Given the description of an element on the screen output the (x, y) to click on. 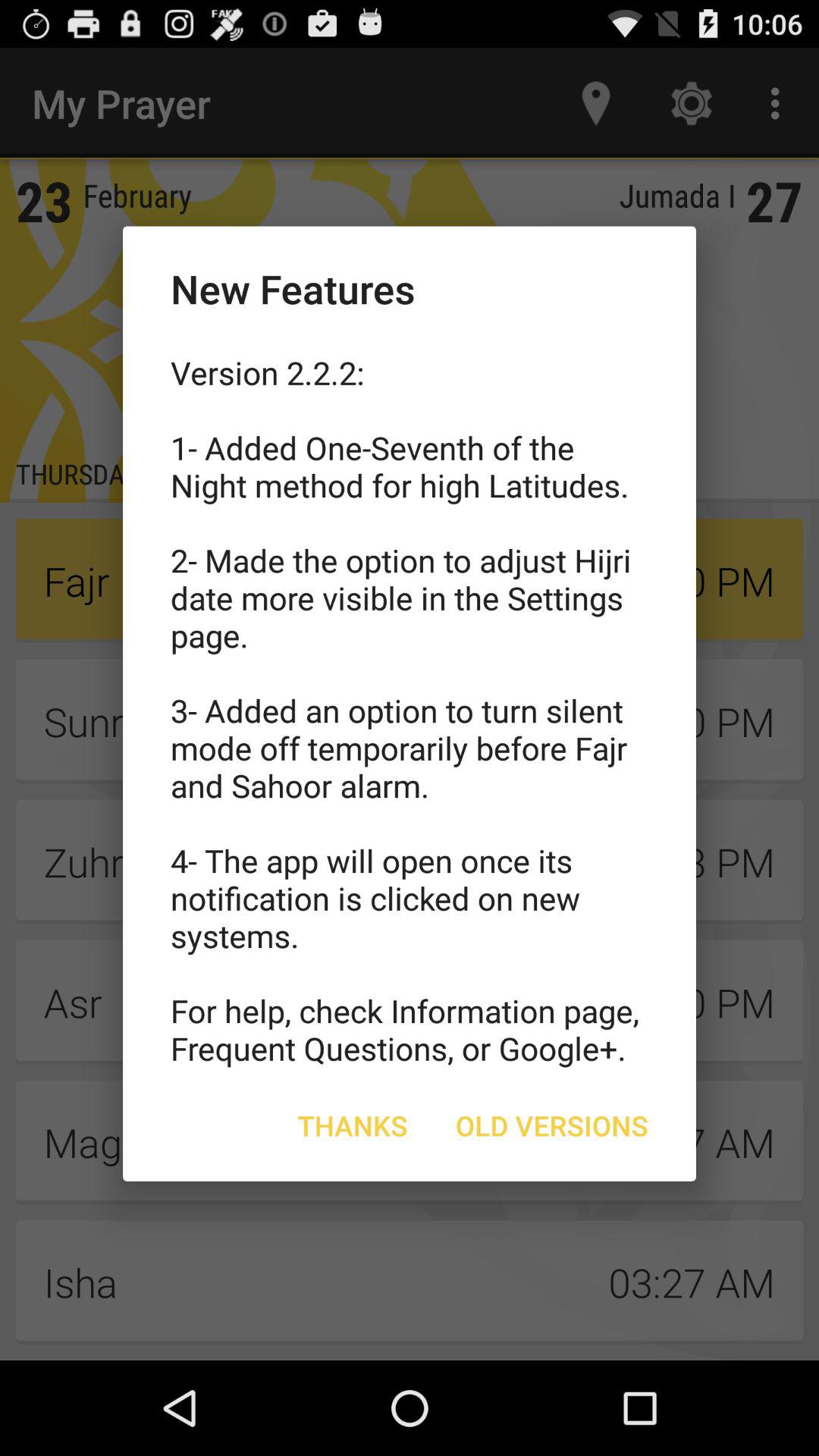
click the old versions icon (551, 1125)
